Given the description of an element on the screen output the (x, y) to click on. 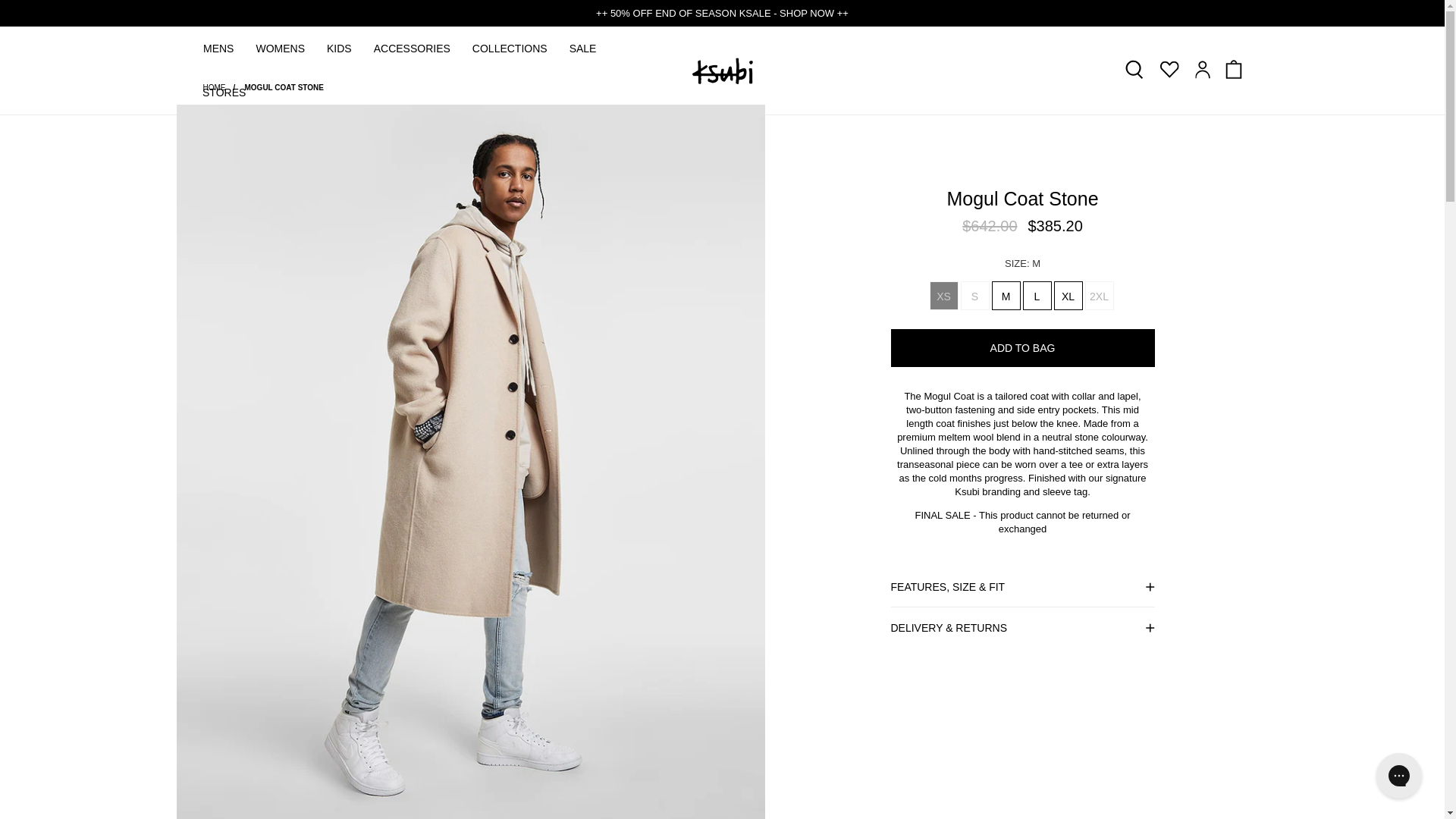
Ksubi CA (721, 70)
KSUBI SALE (721, 12)
